Given the description of an element on the screen output the (x, y) to click on. 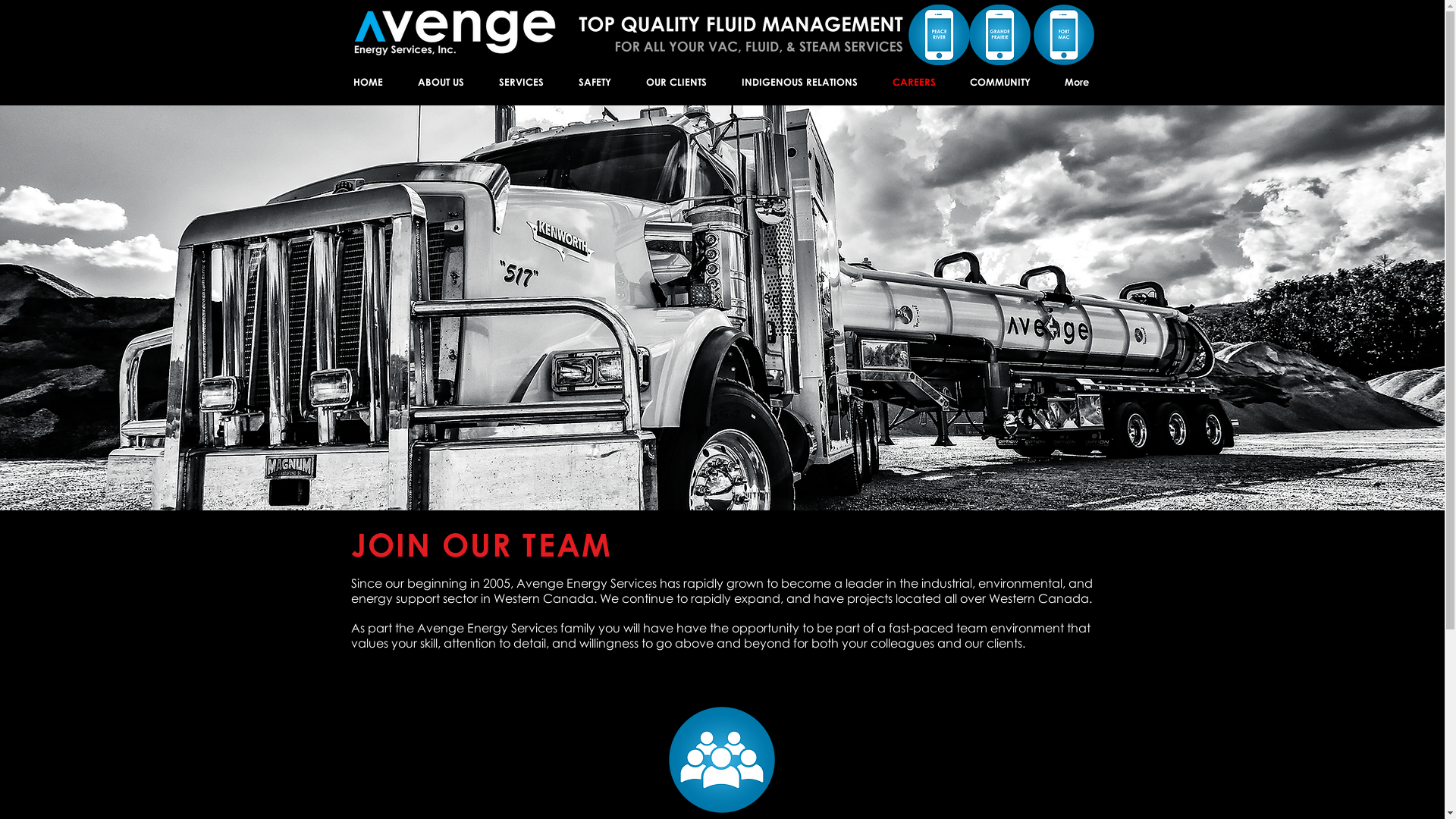
COMMUNITY Element type: text (999, 81)
INDIGENOUS RELATIONS Element type: text (798, 81)
HOME Element type: text (367, 81)
OUR CLIENTS Element type: text (675, 81)
CAREERS Element type: text (914, 81)
SAFETY Element type: text (594, 81)
SERVICES Element type: text (520, 81)
ABOUT US Element type: text (440, 81)
